Given the description of an element on the screen output the (x, y) to click on. 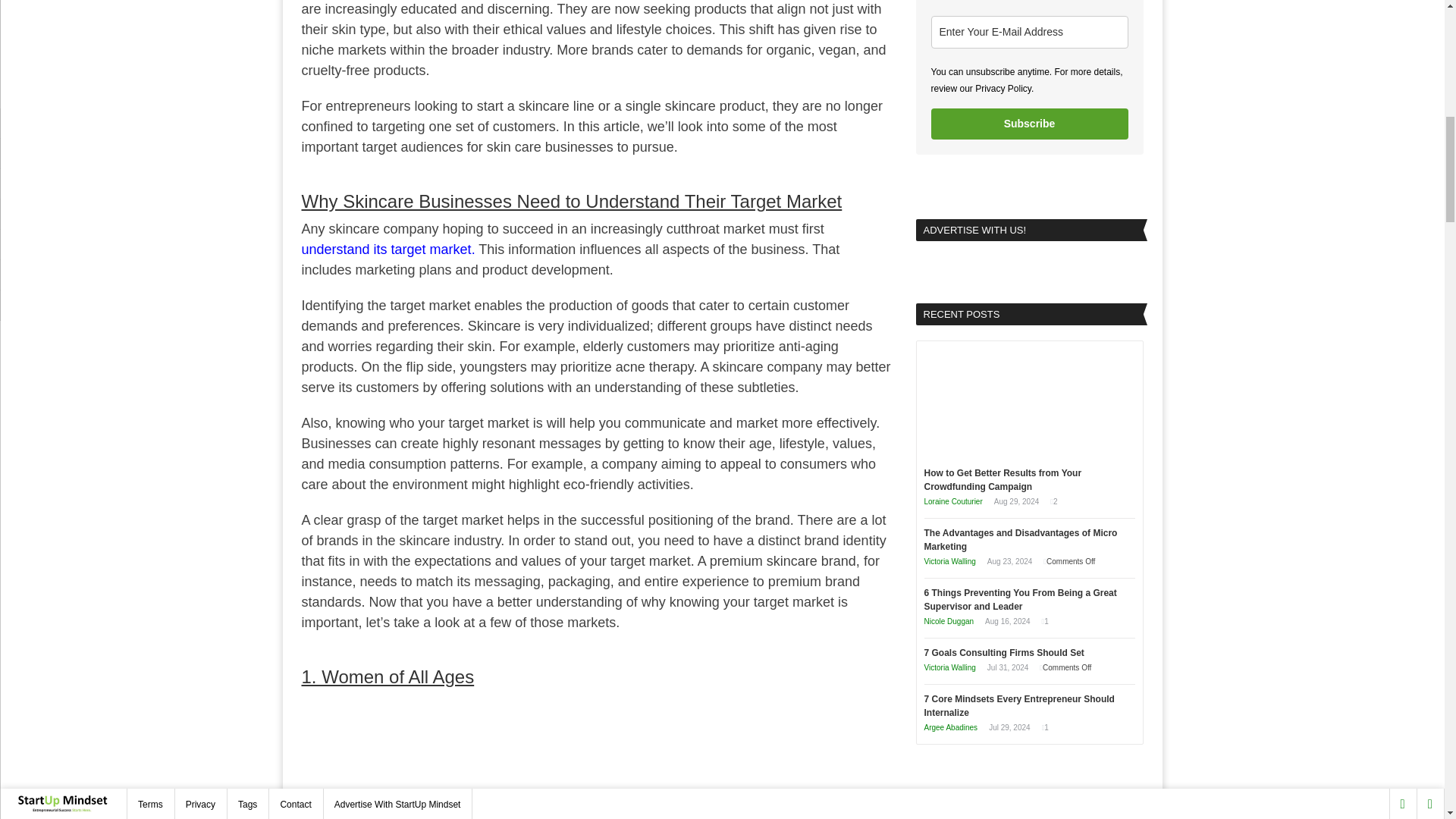
Posts by Nicole Duggan (948, 621)
understand its target market (386, 249)
Posts by Victoria Walling (949, 561)
Posts by Victoria Walling (949, 667)
Posts by Loraine Couturier (952, 501)
Posts by Argee Abadines (949, 727)
